Given the description of an element on the screen output the (x, y) to click on. 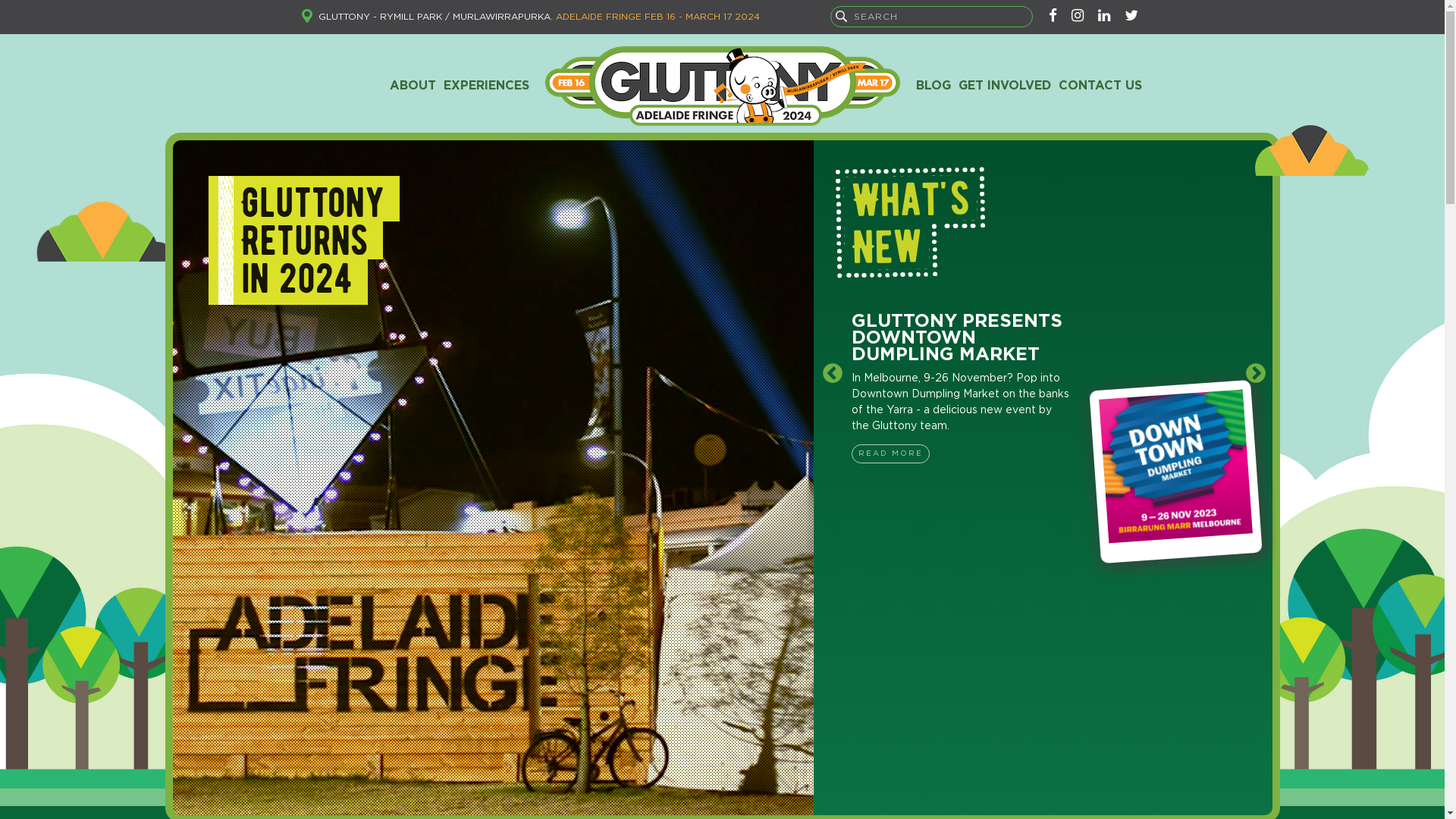
ABOUT Element type: text (412, 85)
GET INVOLVED Element type: text (1003, 85)
BLOG Element type: text (932, 85)
READ MORE Element type: text (890, 454)
CONTACT US Element type: text (1099, 85)
EXPERIENCES Element type: text (486, 85)
